Given the description of an element on the screen output the (x, y) to click on. 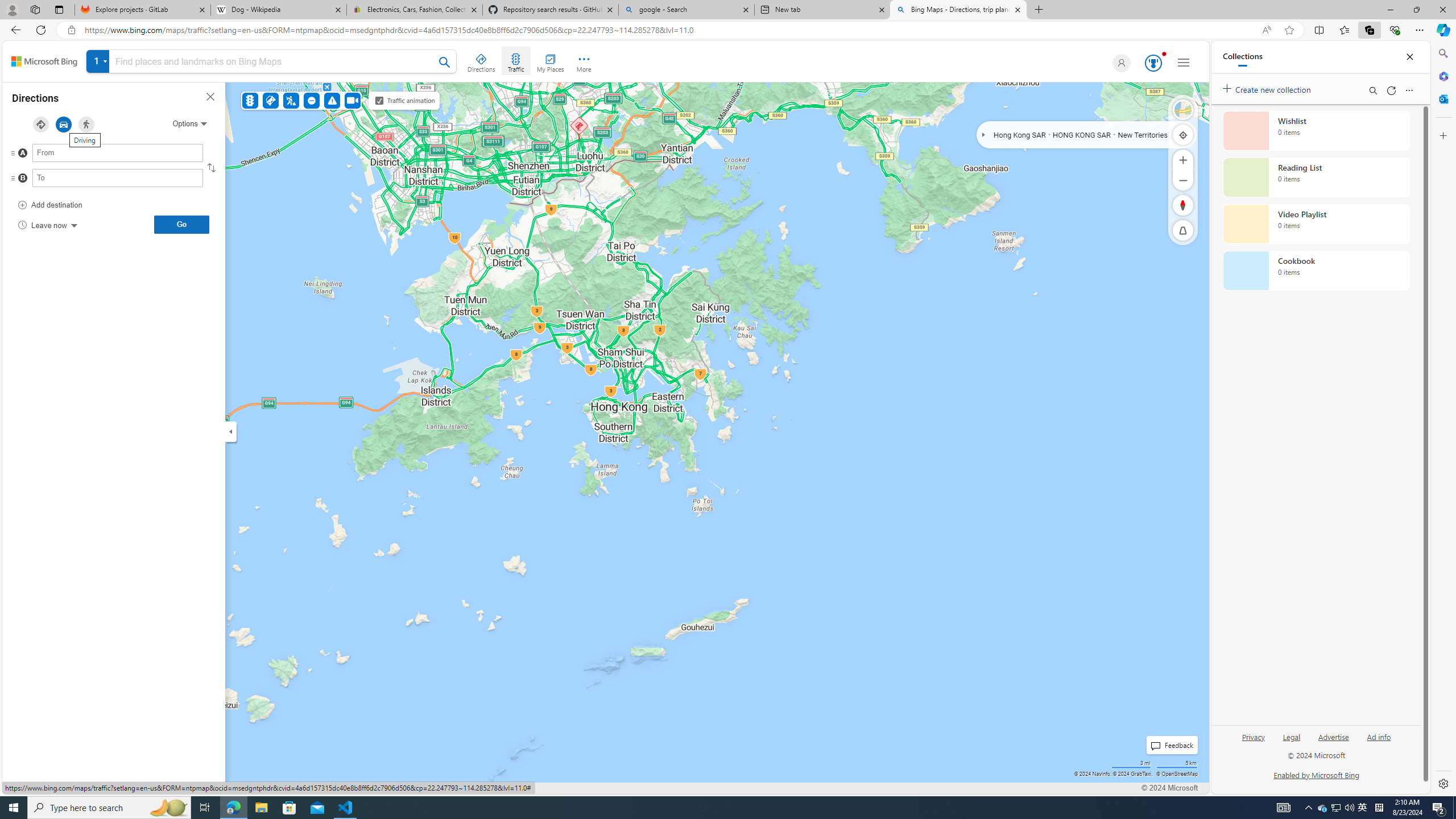
Add destination (49, 204)
Ad info (1378, 741)
Locate me (1182, 134)
Drag to reorder (21, 178)
Legal (1292, 741)
Satellite (1182, 109)
About our ads (200, 787)
Streetside (1182, 109)
Help (248, 787)
Go (180, 224)
Driving (63, 124)
 View all your searches (97, 60)
